Given the description of an element on the screen output the (x, y) to click on. 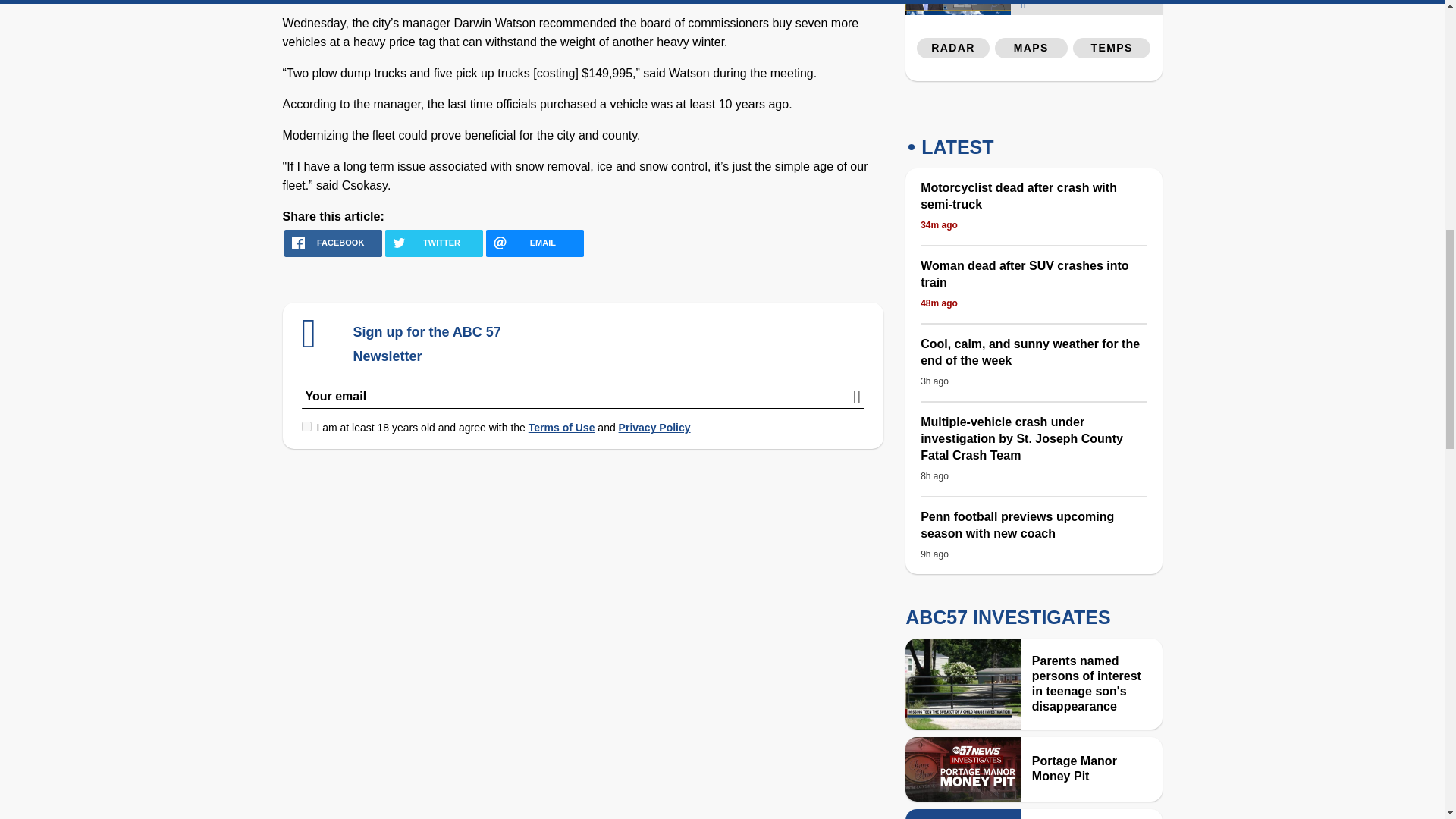
on (306, 426)
